Given the description of an element on the screen output the (x, y) to click on. 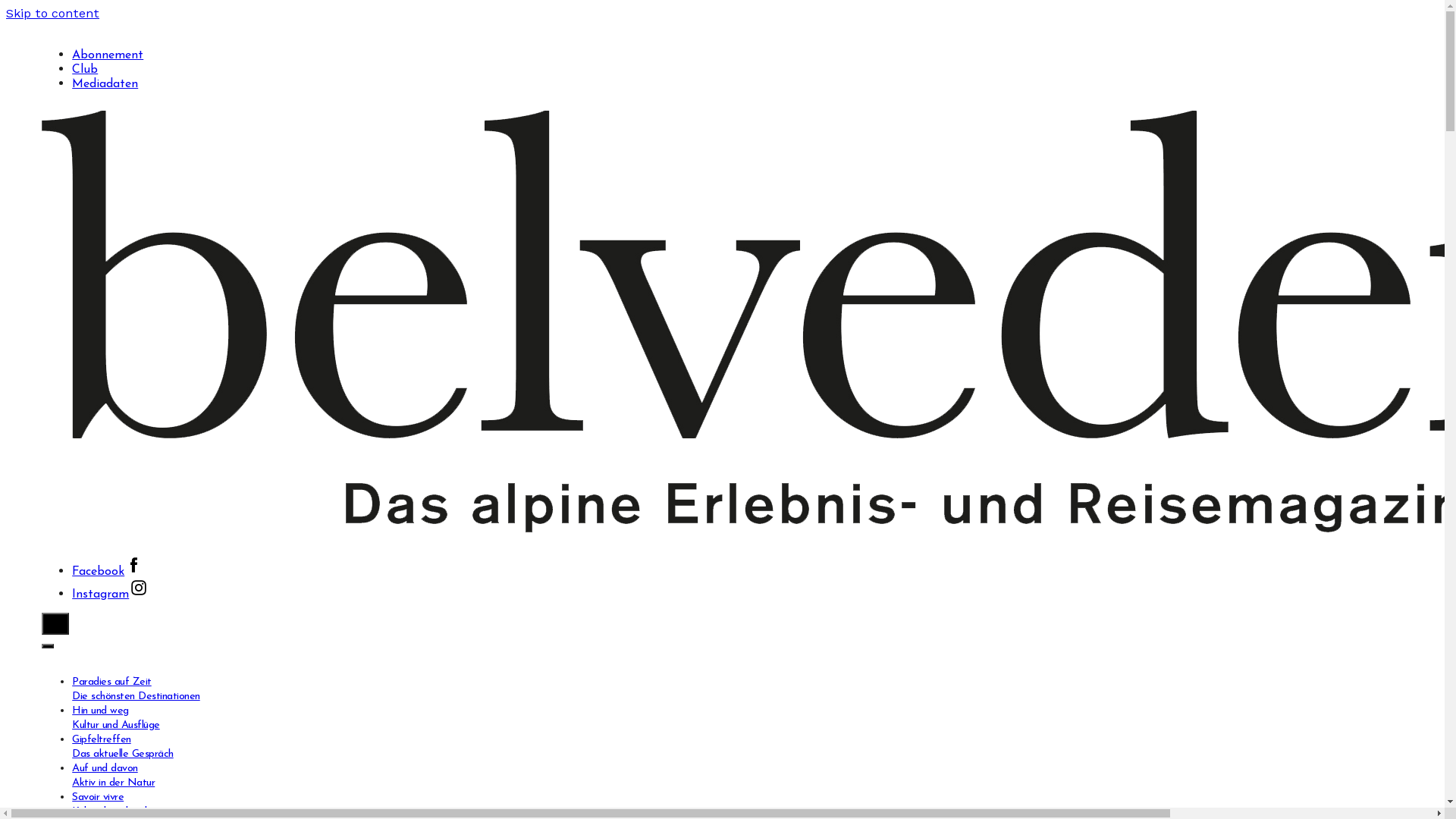
Facebook Element type: text (108, 571)
Mediadaten Element type: text (105, 84)
Abonnement Element type: text (107, 55)
Savoir vivre
Kulinarik und mehr Element type: text (112, 804)
Instagram Element type: text (110, 594)
Club Element type: text (84, 69)
Auf und davon
Aktiv in der Natur Element type: text (113, 775)
Skip to content Element type: text (52, 13)
